Given the description of an element on the screen output the (x, y) to click on. 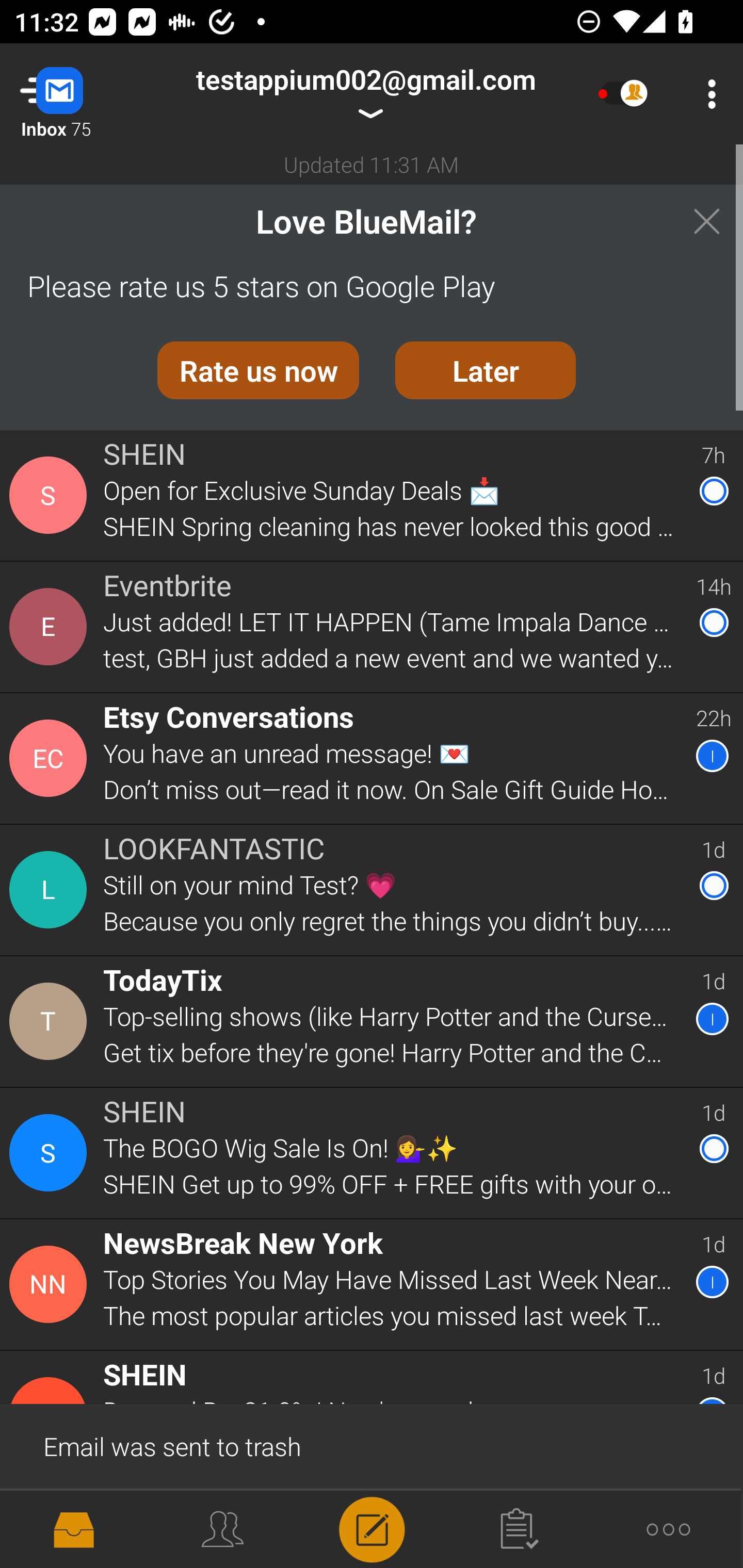
Navigate up (81, 93)
testappium002@gmail.com (365, 93)
More Options (706, 93)
Updated 11:31 AM (371, 164)
Rate us now (257, 370)
Later (485, 370)
Contact Details (50, 495)
Contact Details (50, 626)
Contact Details (50, 758)
Contact Details (50, 889)
Contact Details (50, 1021)
Contact Details (50, 1153)
Contact Details (50, 1284)
Email was sent to trash (371, 1445)
Compose (371, 1528)
